Given the description of an element on the screen output the (x, y) to click on. 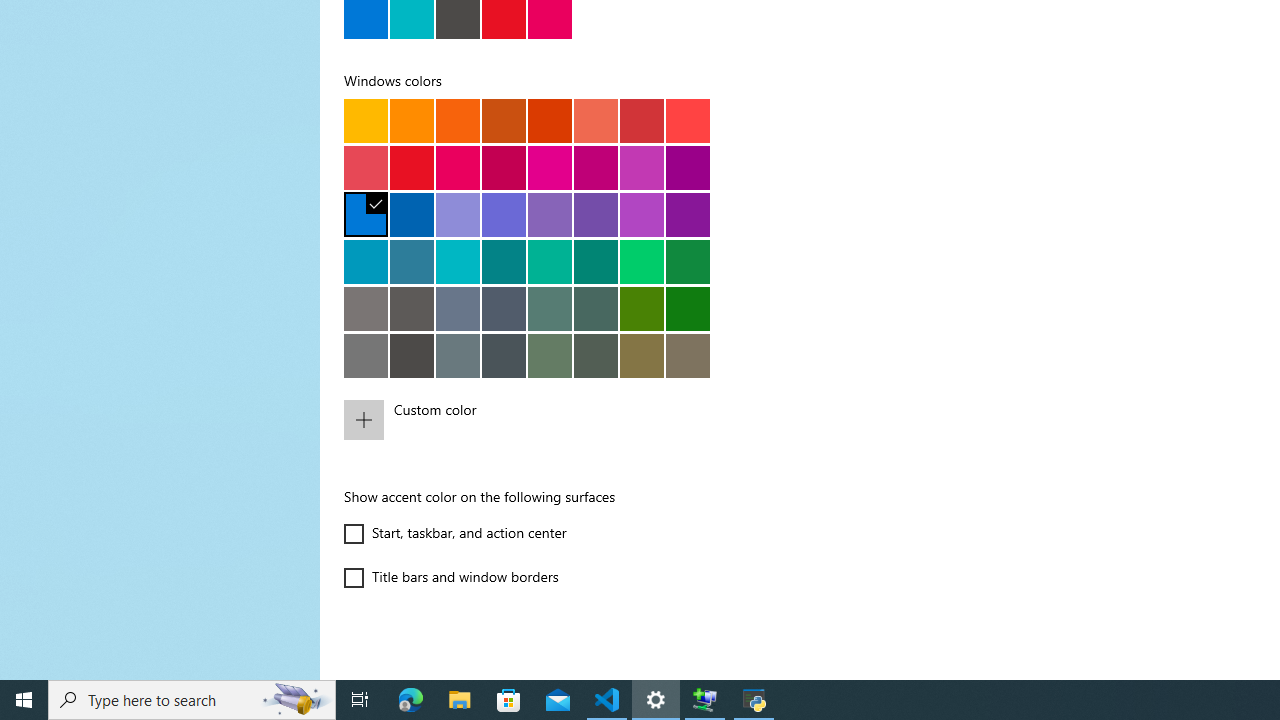
Navy blue (411, 214)
Violet red (687, 214)
Moss (595, 308)
Seafoam (458, 261)
Orchid light (641, 167)
Start, taskbar, and action center (455, 533)
Violet red light (641, 214)
Rose (504, 167)
Iris pastel (549, 214)
Purple shadow (458, 214)
Mint dark (595, 261)
Custom color (563, 420)
Gray brown (411, 308)
Gold (411, 120)
Default blue (365, 214)
